Given the description of an element on the screen output the (x, y) to click on. 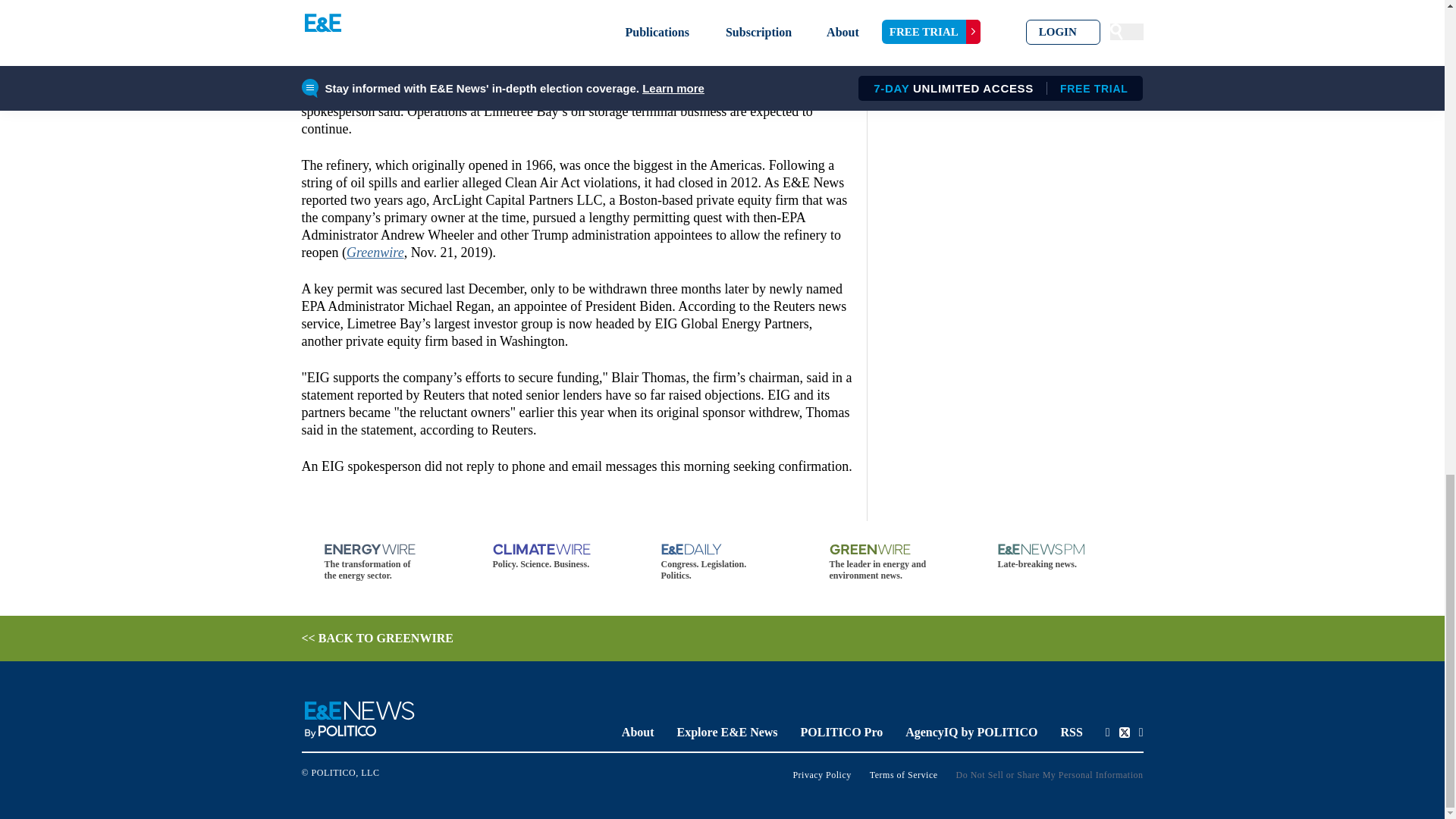
The leader in energy and environment news. (890, 562)
The transformation of the energy sector. (385, 562)
Congress. Legislation. Politics. (722, 562)
Policy. Science. Business. (554, 556)
About (637, 731)
Greenwire (375, 252)
Late-breaking news. (1058, 556)
